Given the description of an element on the screen output the (x, y) to click on. 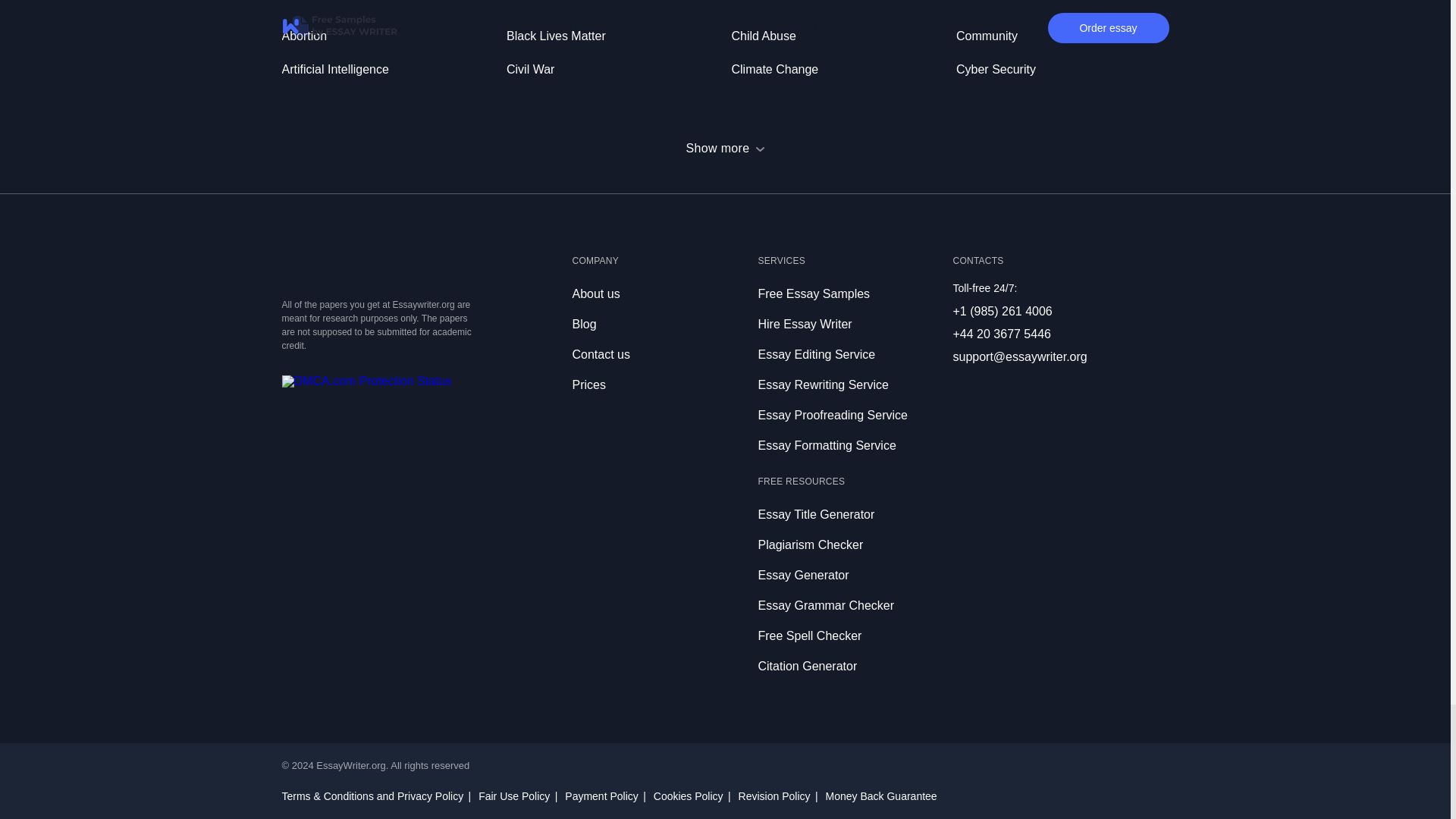
DMCA.com Protection Status (366, 380)
